Given the description of an element on the screen output the (x, y) to click on. 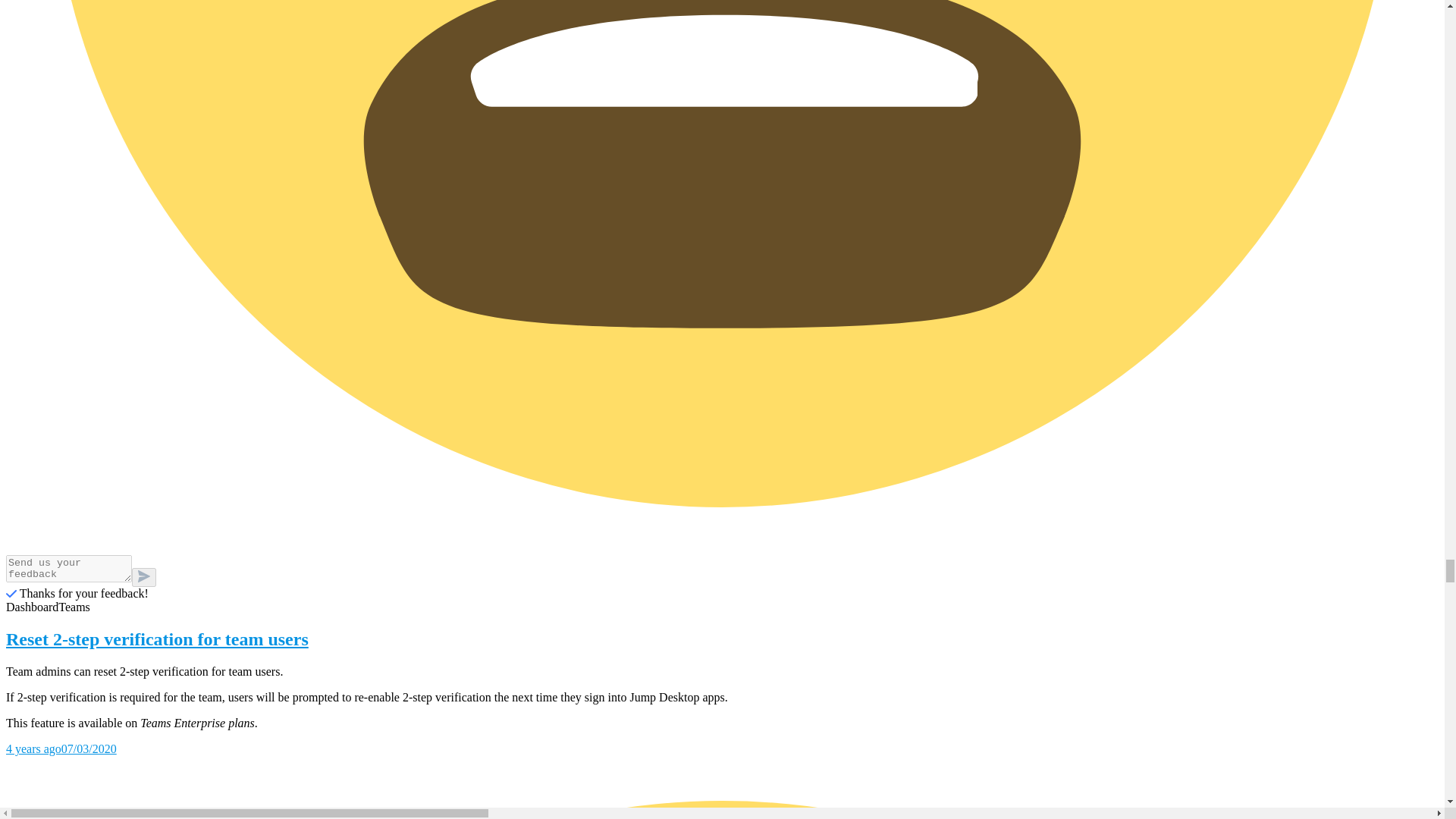
Submit Button (143, 577)
Reset 2-step verification for team users (721, 639)
